Given the description of an element on the screen output the (x, y) to click on. 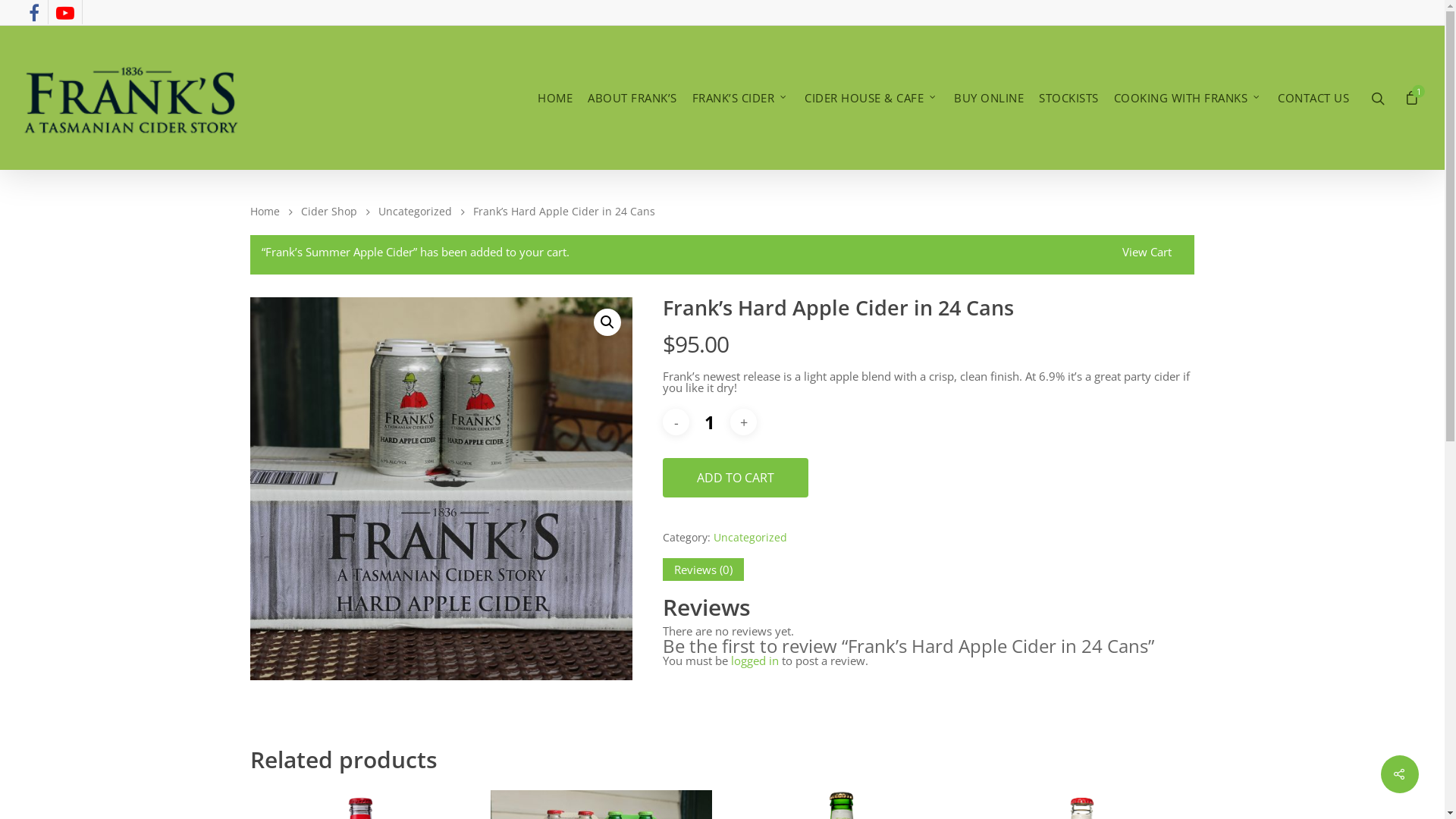
Uncategorized Element type: text (414, 210)
Reviews (0) Element type: text (703, 569)
HOME Element type: text (554, 97)
Home Element type: text (264, 210)
View Cart Element type: text (1146, 254)
Cans Element type: hover (441, 488)
Cider Shop Element type: text (329, 210)
STOCKISTS Element type: text (1068, 97)
BUY ONLINE Element type: text (988, 97)
Qty Element type: hover (709, 421)
CONTACT US Element type: text (1313, 97)
COOKING WITH FRANKS Element type: text (1187, 97)
Uncategorized Element type: text (750, 537)
CIDER HOUSE & CAFE Element type: text (871, 97)
ADD TO CART Element type: text (735, 477)
logged in Element type: text (754, 660)
1 Element type: text (1411, 97)
